Given the description of an element on the screen output the (x, y) to click on. 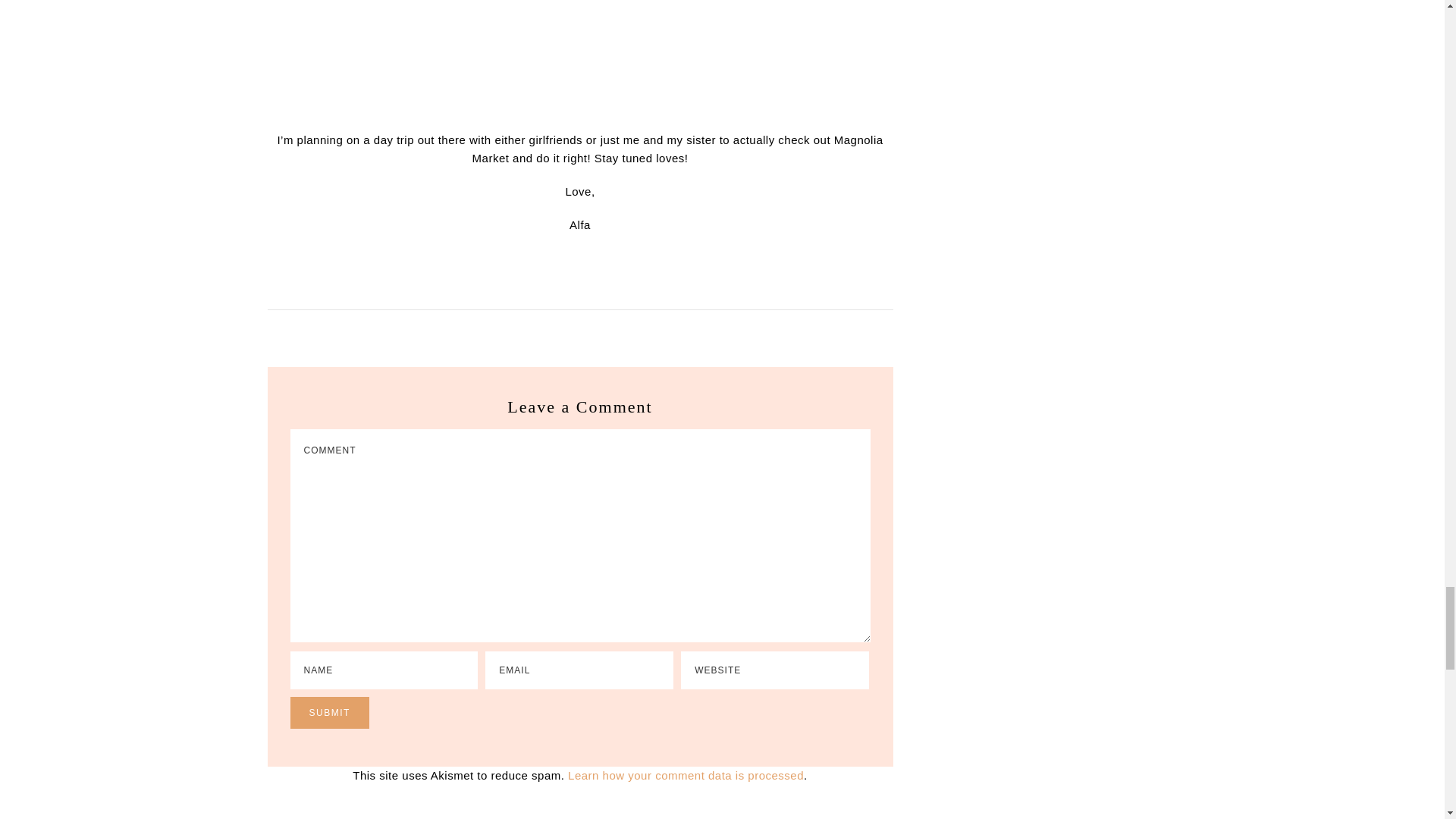
Submit (328, 712)
Submit (328, 712)
Learn how your comment data is processed (685, 775)
